Given the description of an element on the screen output the (x, y) to click on. 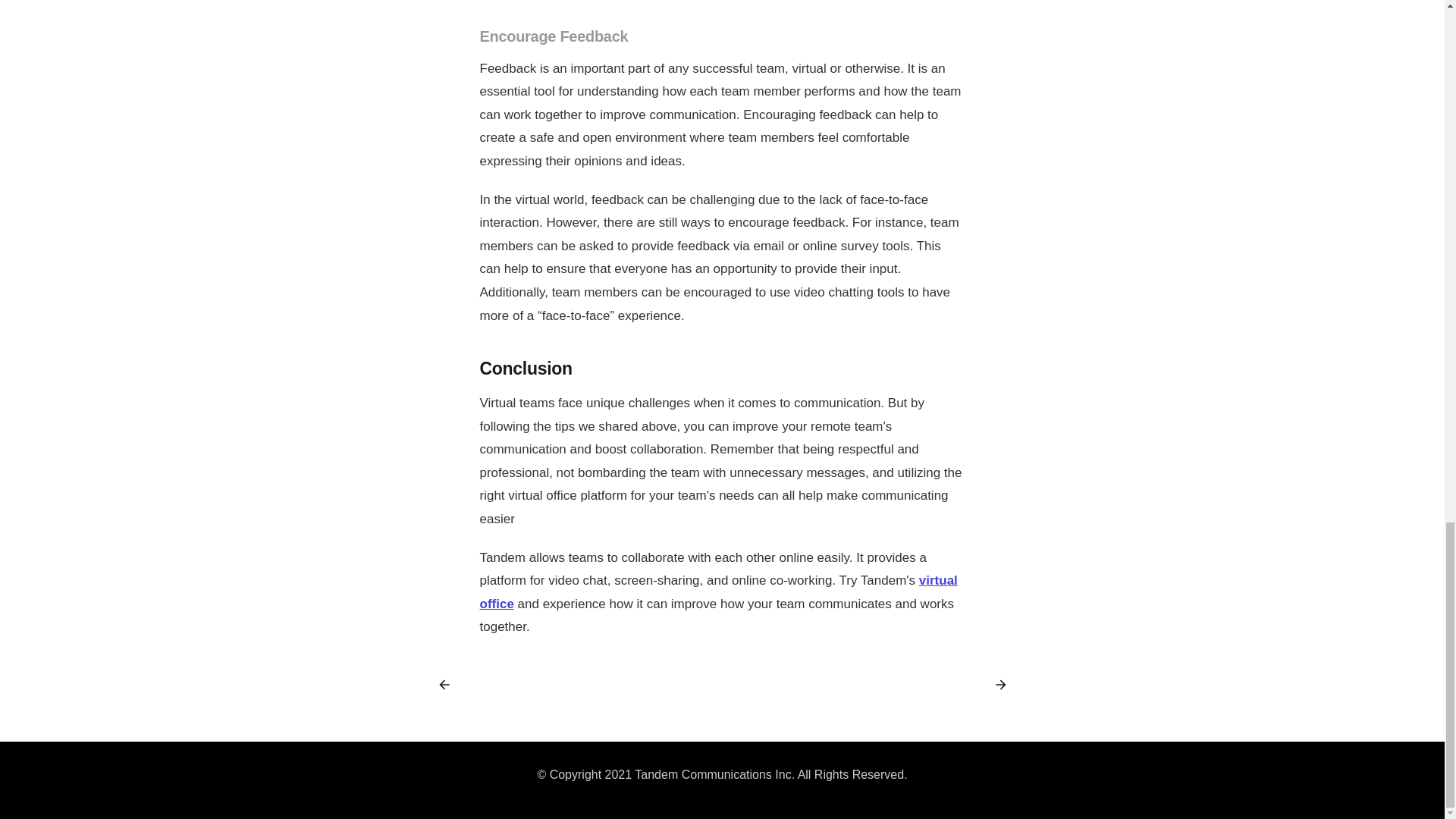
virtual office (717, 591)
